Given the description of an element on the screen output the (x, y) to click on. 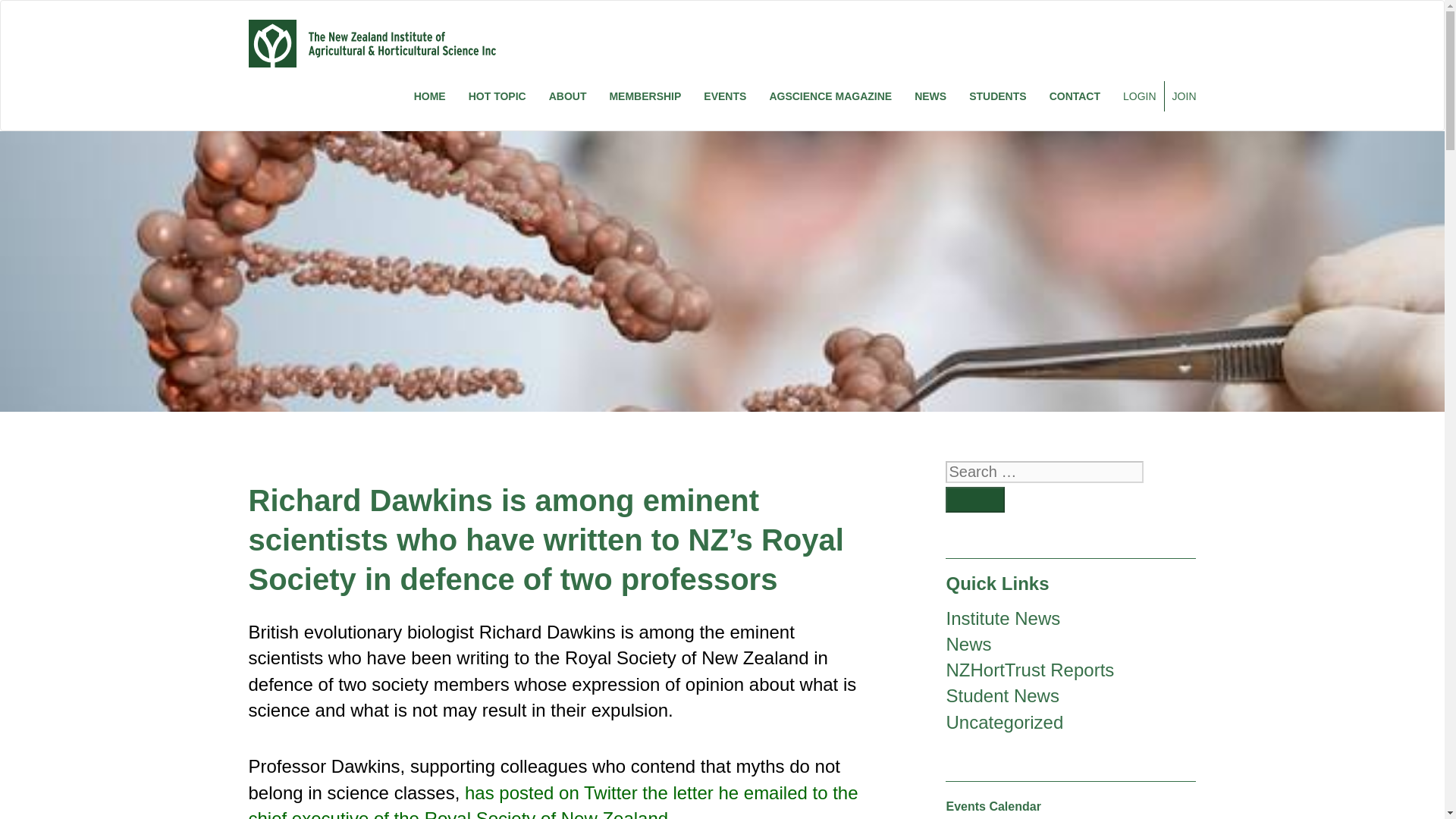
CONTACT (1075, 96)
MEMBERSHIP (644, 96)
Search for: (1043, 472)
EVENTS (725, 96)
LOGIN (1138, 96)
AGSCIENCE MAGAZINE (829, 96)
ABOUT (567, 96)
NEWS (930, 96)
STUDENTS (997, 96)
HOT TOPIC (497, 96)
NZIAHS (372, 43)
HOME (430, 96)
